Given the description of an element on the screen output the (x, y) to click on. 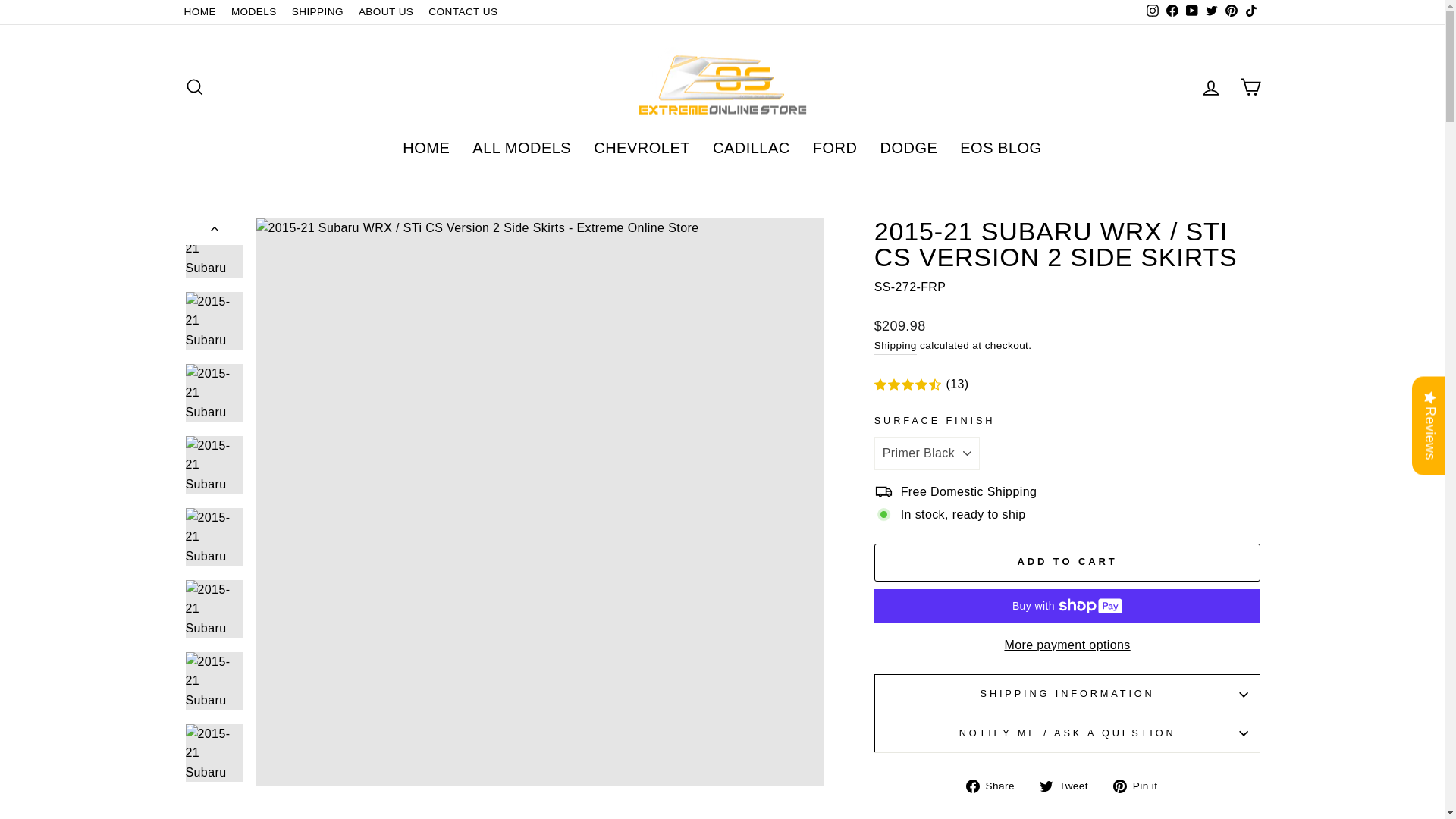
Share on Facebook (996, 785)
Pin on Pinterest (1141, 785)
Tweet on Twitter (1069, 785)
